Given the description of an element on the screen output the (x, y) to click on. 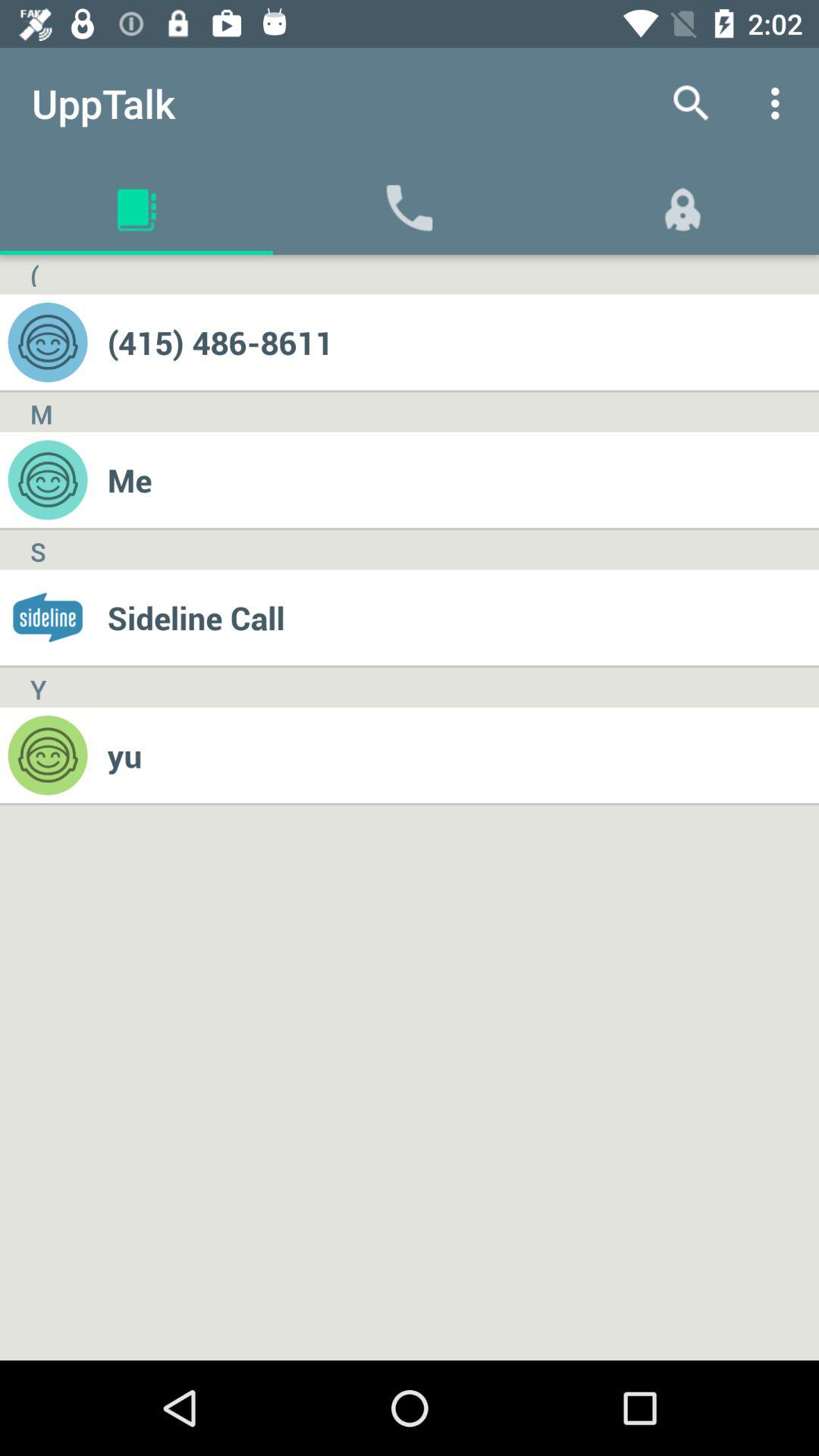
click the yu (463, 754)
